Given the description of an element on the screen output the (x, y) to click on. 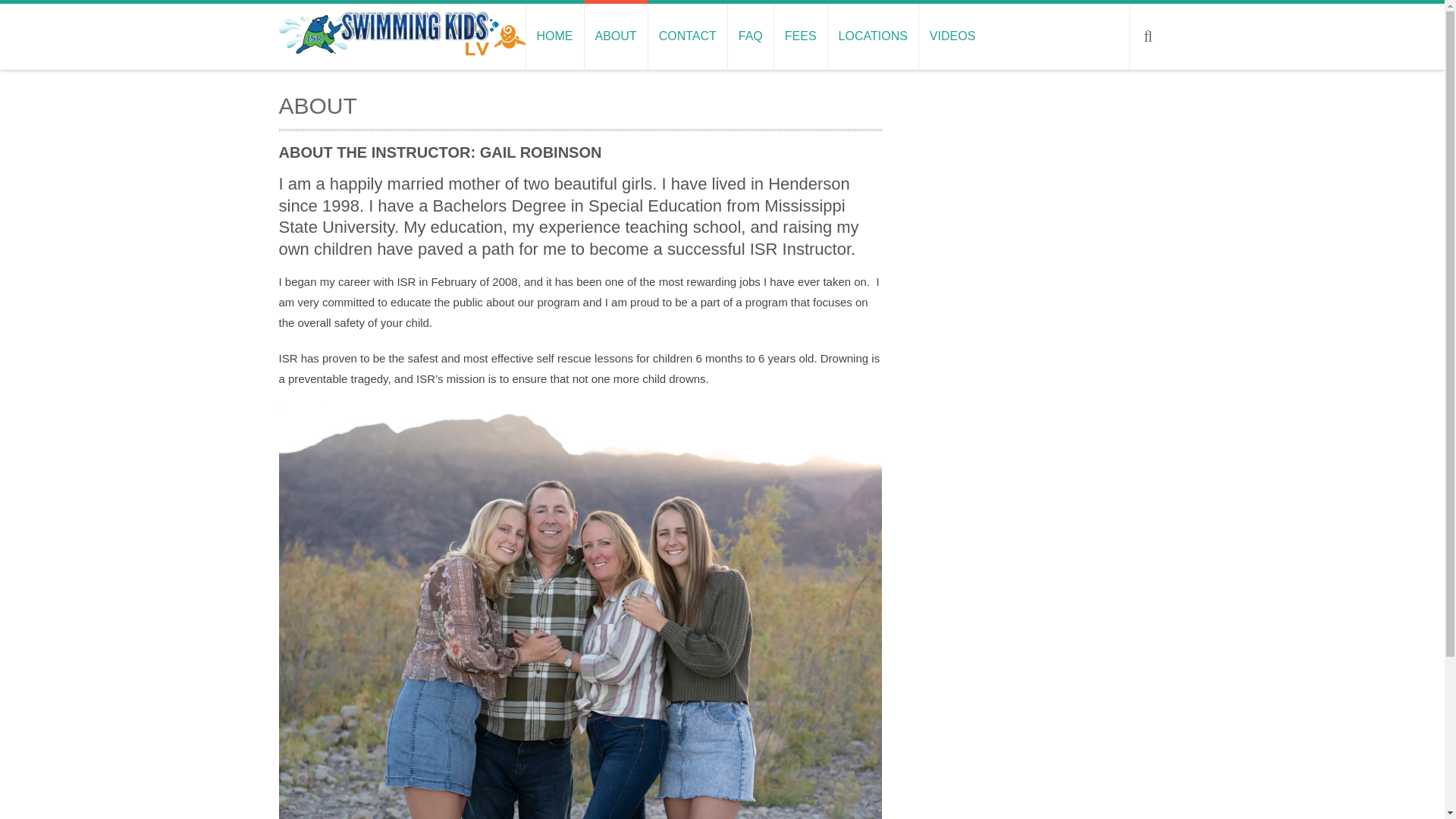
LOCATIONS (872, 36)
HOME (553, 36)
VIDEOS (951, 36)
ABOUT (615, 36)
CONTACT (686, 36)
